Given the description of an element on the screen output the (x, y) to click on. 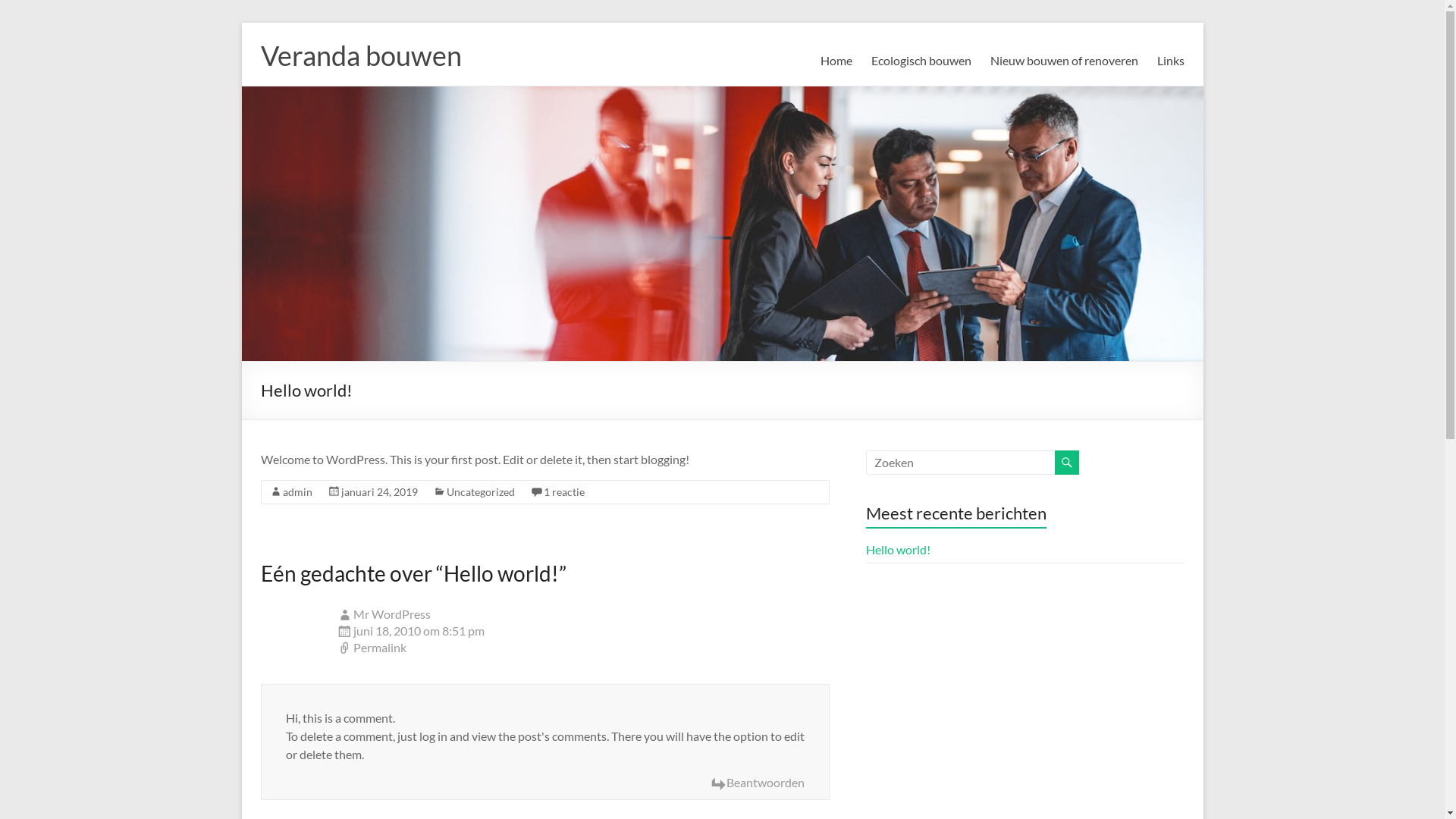
januari 24, 2019 Element type: text (379, 491)
Ecologisch bouwen Element type: text (920, 60)
Nieuw bouwen of renoveren Element type: text (1064, 60)
Uncategorized Element type: text (479, 491)
admin Element type: text (296, 491)
Veranda bouwen Element type: text (360, 55)
Beantwoorden Element type: text (756, 783)
Hello world! Element type: text (898, 549)
Permalink Element type: text (582, 648)
Links Element type: text (1170, 60)
Skip to content Element type: text (241, 21)
Home Element type: text (836, 60)
1 reactie Element type: text (562, 491)
Mr WordPress Element type: text (391, 613)
